Given the description of an element on the screen output the (x, y) to click on. 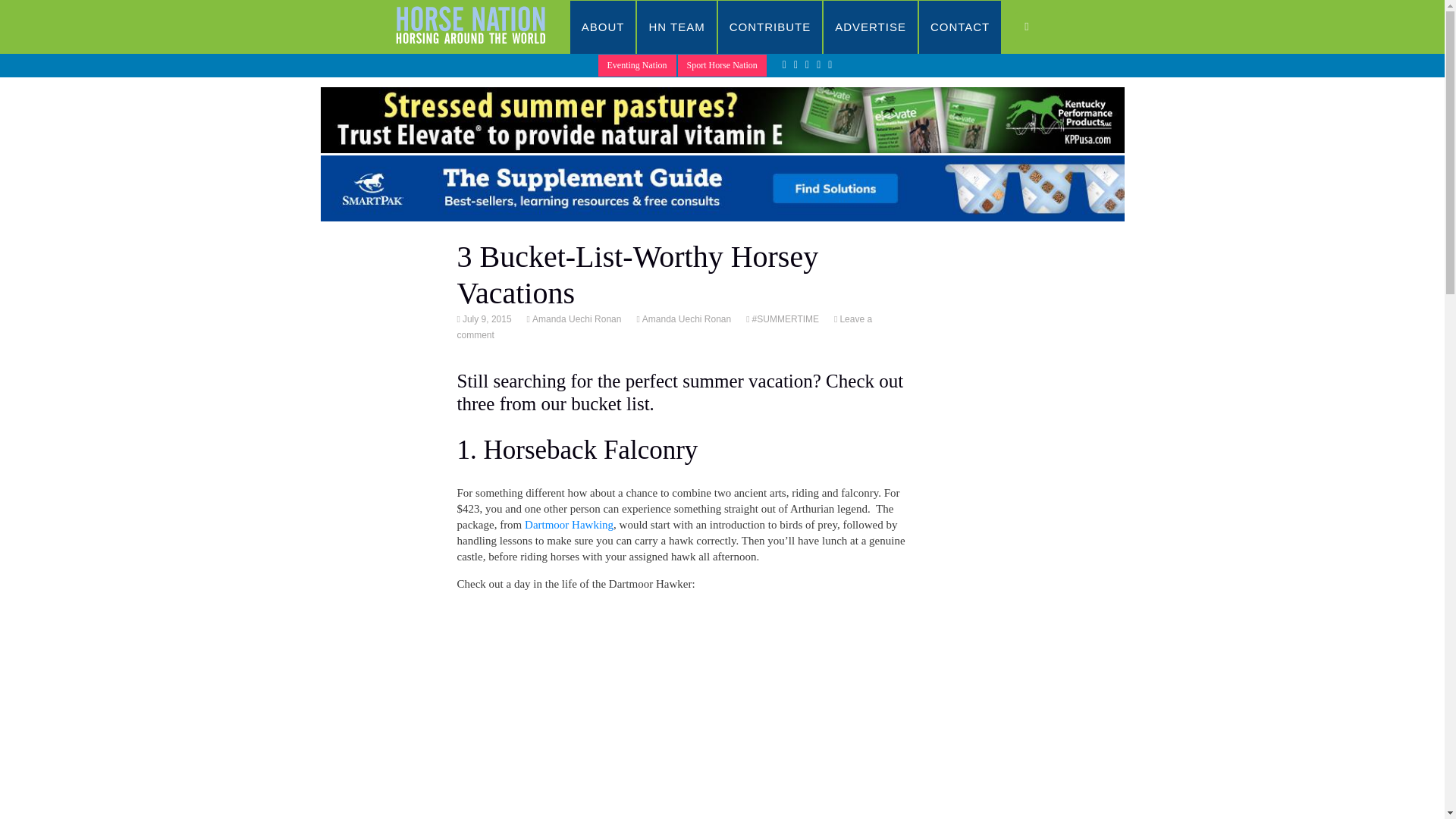
Dartmoor Hawking (568, 524)
Amanda Uechi Ronan (575, 318)
Amanda Uechi Ronan (685, 318)
Sport Horse Nation (722, 65)
SEARCH (1041, 27)
Permalink to 3 Bucket-List-Worthy Horsey Vacations (486, 318)
CONTRIBUTE (769, 27)
Leave a comment (664, 326)
View all posts by Amanda Uechi Ronan (575, 318)
ADVERTISE (870, 27)
